Given the description of an element on the screen output the (x, y) to click on. 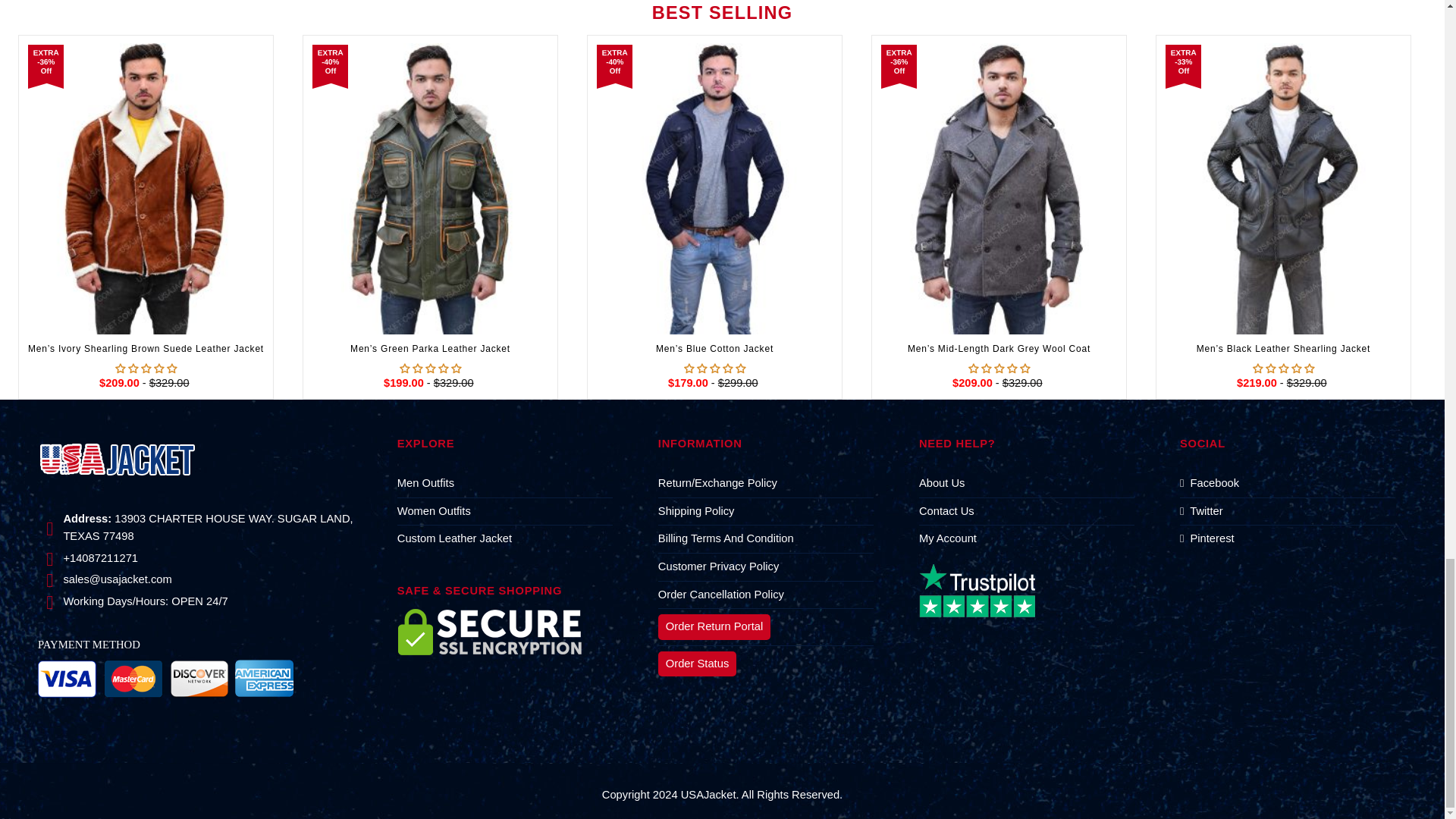
Men's Green Parka Jacket (430, 188)
Men's Mid-Length Grey Wool Coat (999, 188)
Navy Blue Cotton Jacket (714, 188)
Men's Ivory Brown Suede Leather Shearling Jacket (146, 188)
